Given the description of an element on the screen output the (x, y) to click on. 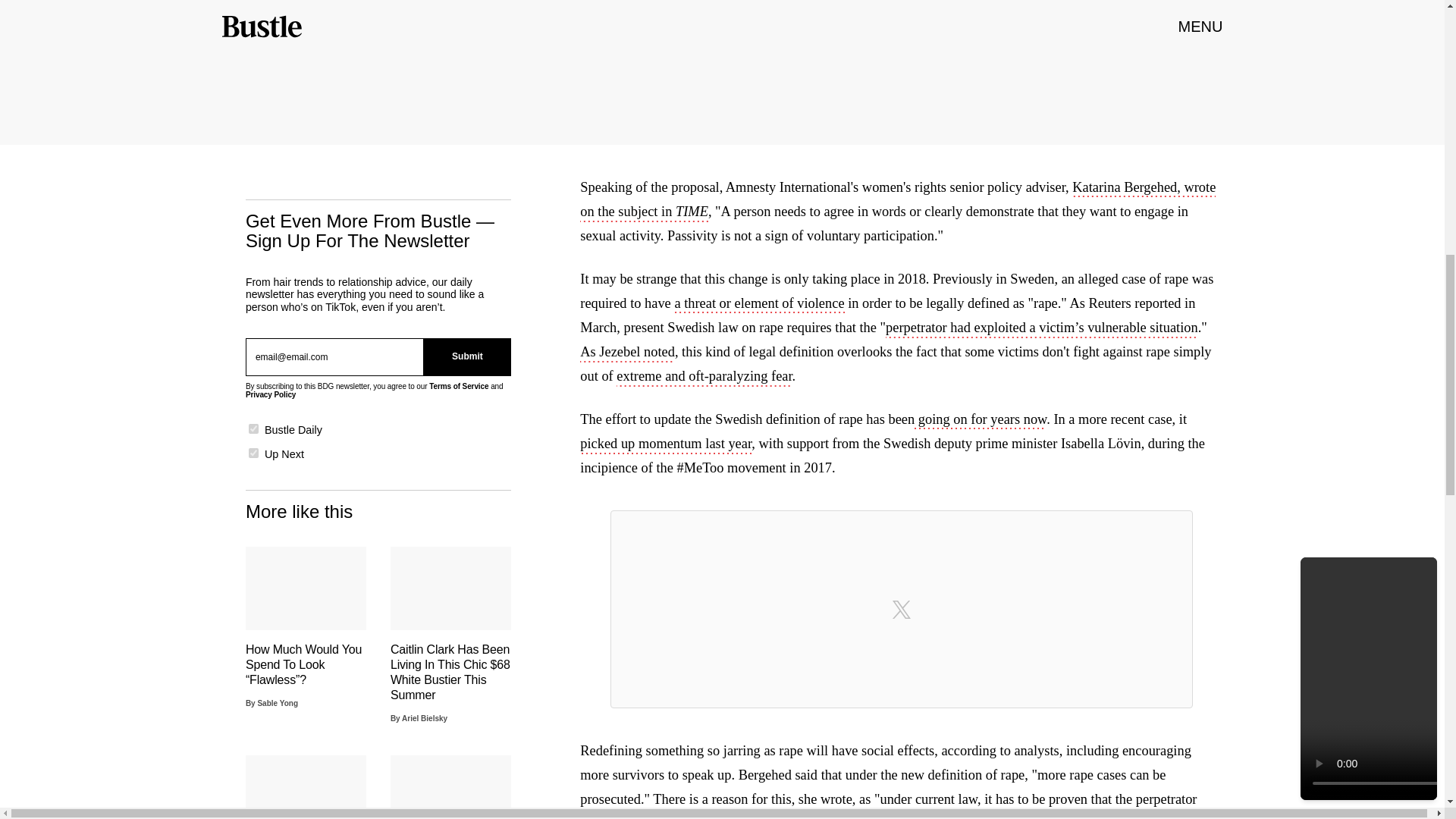
going on for years now (980, 420)
Submit (467, 356)
extreme and oft-paralyzing fear (703, 377)
Privacy Policy (270, 394)
As Jezebel noted (627, 352)
a threat or element of violence (759, 304)
Terms of Service (458, 386)
Katarina Bergehed, wrote on the subject in TIME (897, 200)
picked up momentum last year (665, 444)
